Given the description of an element on the screen output the (x, y) to click on. 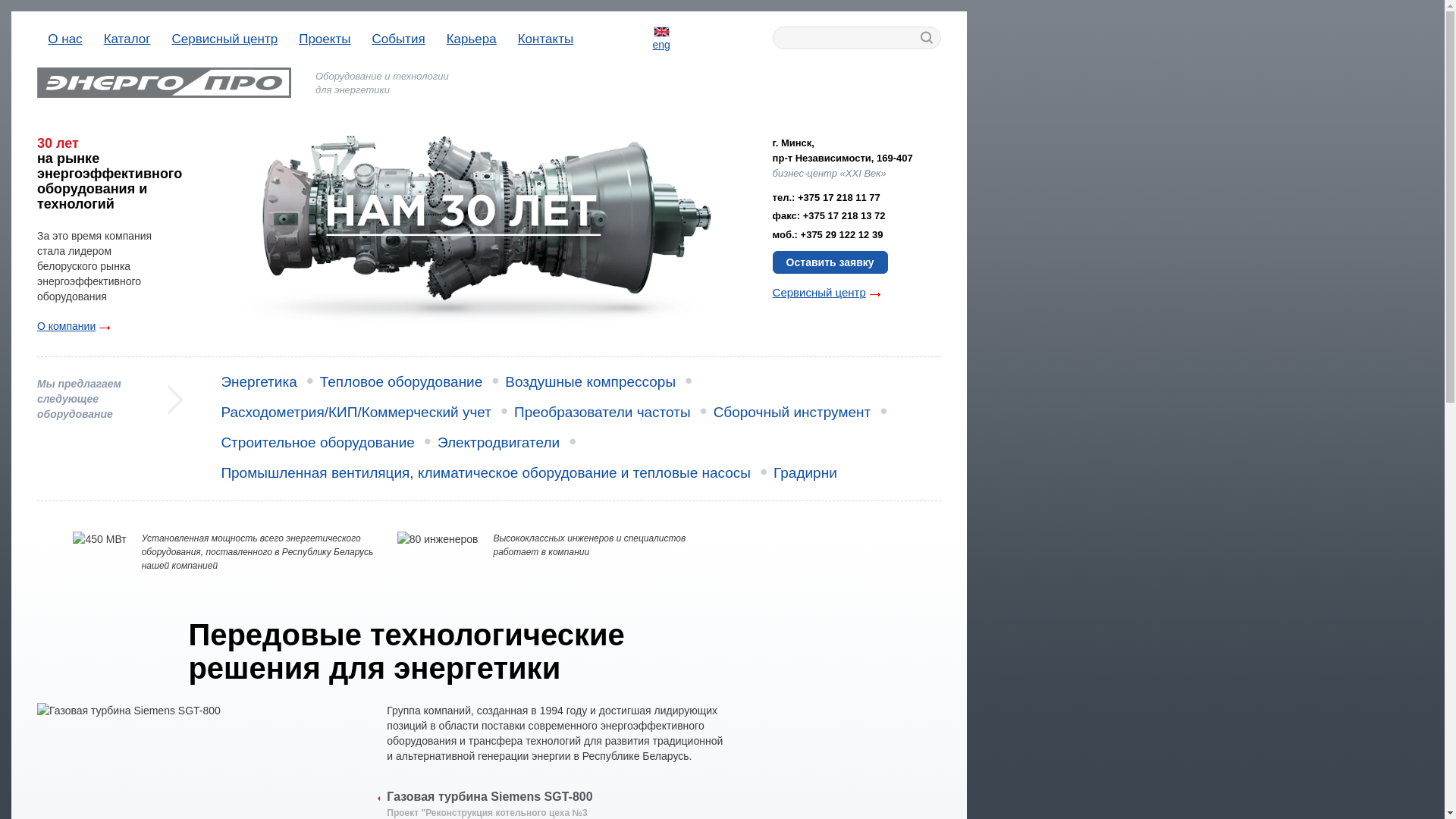
eng Element type: text (661, 38)
